Given the description of an element on the screen output the (x, y) to click on. 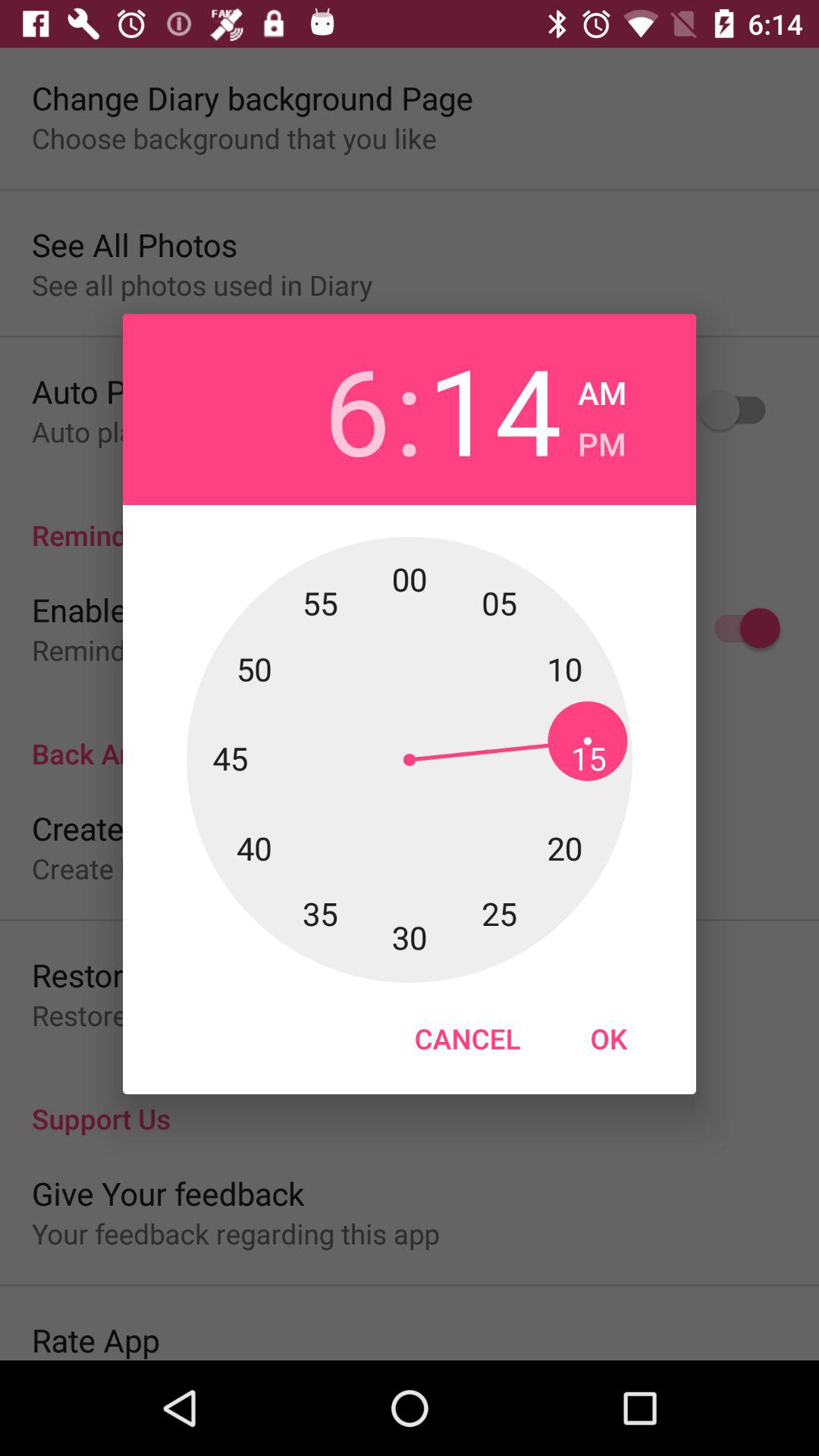
launch 6 (323, 408)
